Given the description of an element on the screen output the (x, y) to click on. 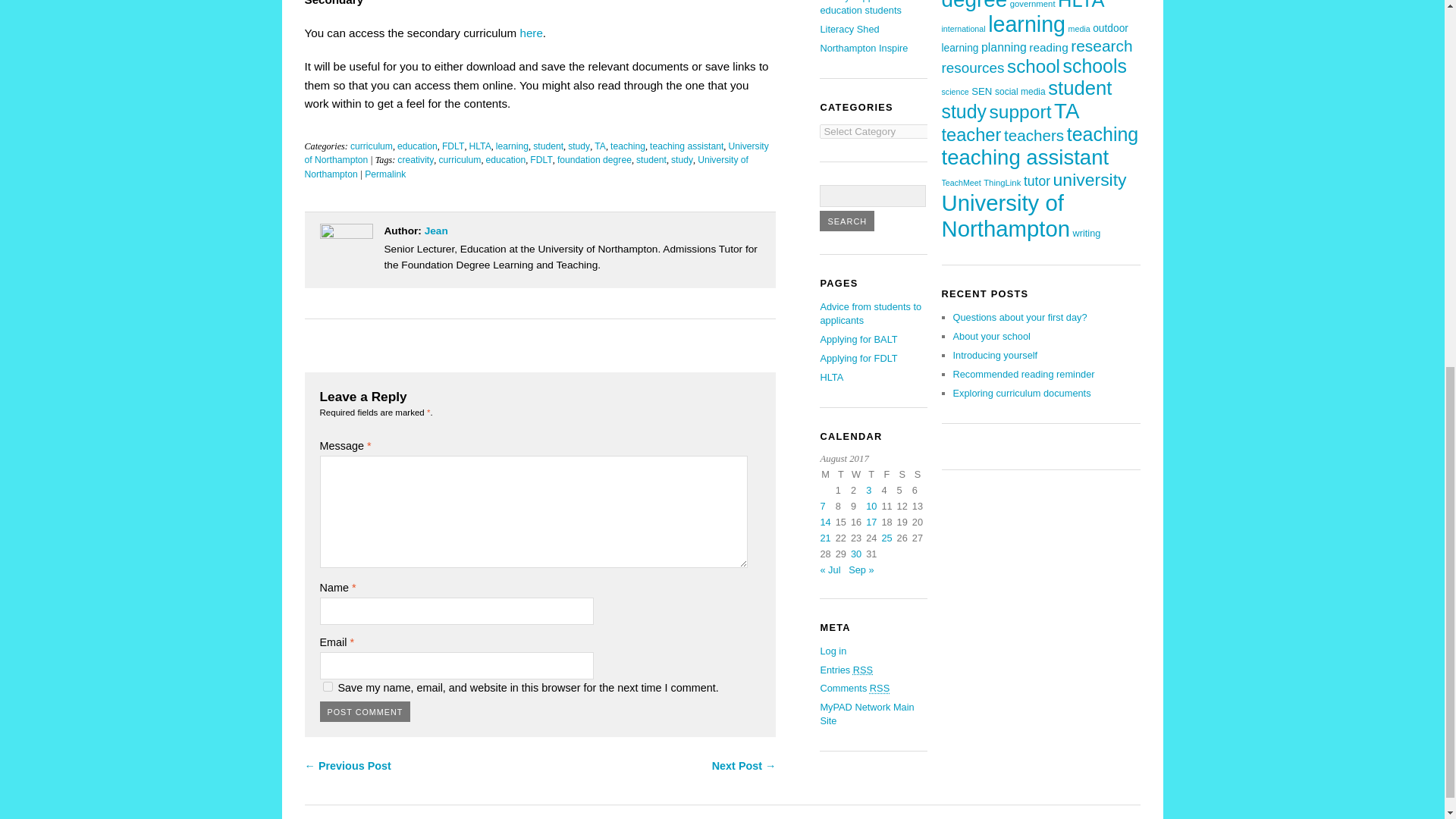
The latest comments to all posts in RSS (854, 687)
Search (847, 220)
education (417, 145)
Syndicate this site using RSS 2.0 (845, 668)
TA (599, 145)
Really Simple Syndication (879, 687)
FDLT (541, 159)
education (505, 159)
Sunday (919, 476)
here (530, 32)
